Given the description of an element on the screen output the (x, y) to click on. 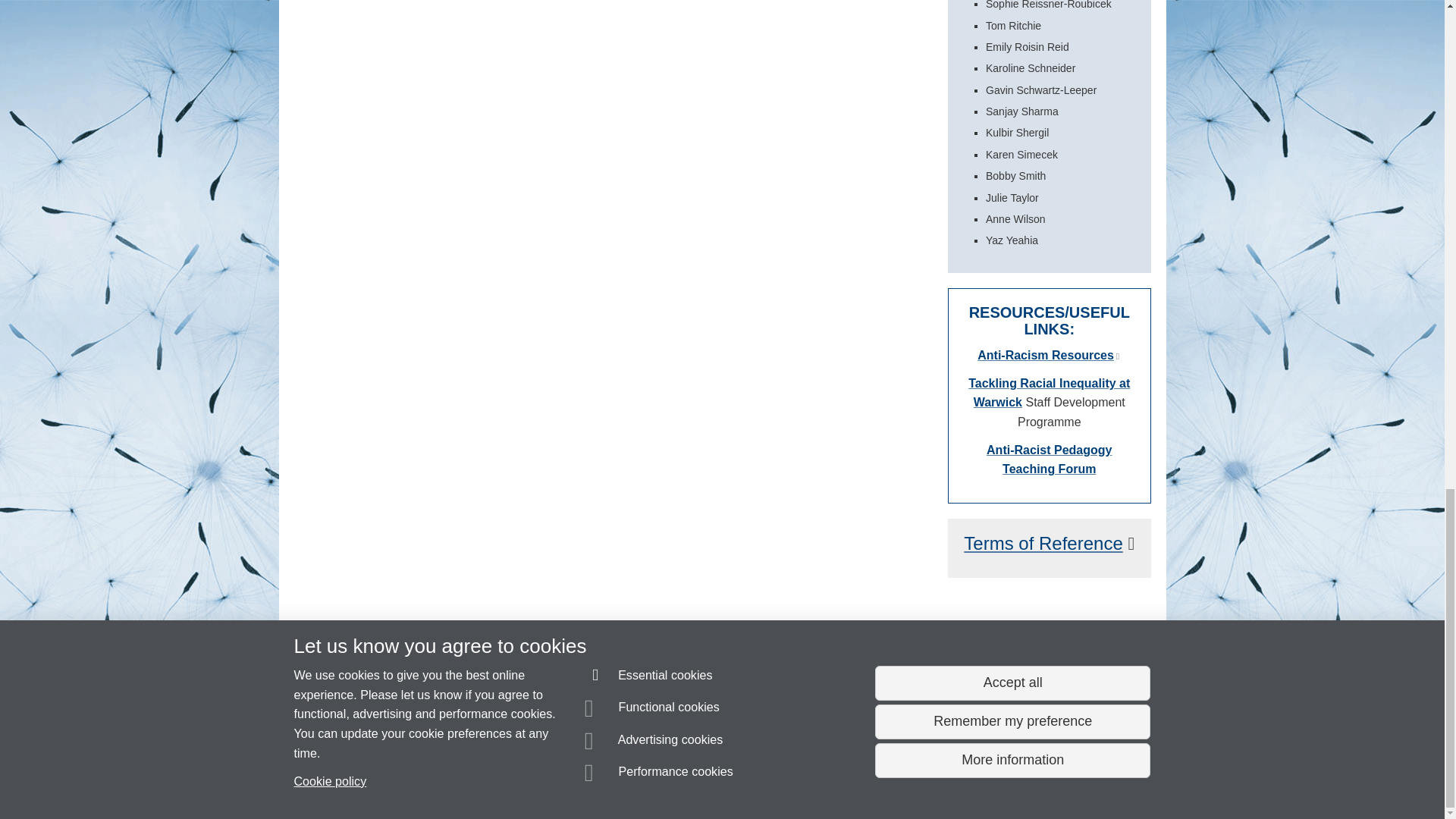
Information about cookies (467, 780)
Privacy notice (673, 780)
Copyright Statement (514, 780)
Send an email to Lisa Drummond (383, 751)
More information about SiteBuilder (365, 780)
Terms of use (708, 780)
